Given the description of an element on the screen output the (x, y) to click on. 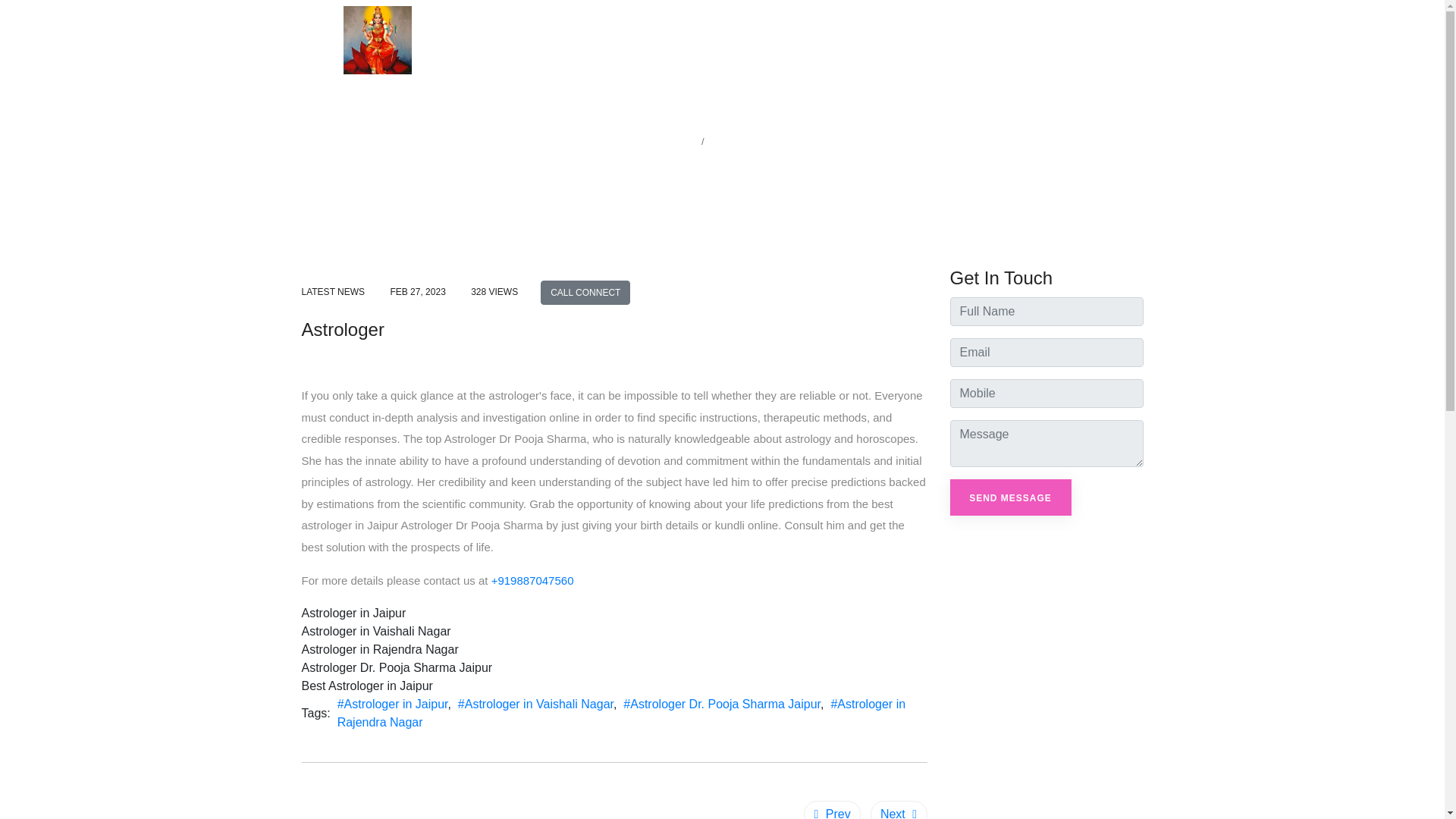
About Us (897, 39)
Blogs (1067, 39)
SEND MESSAGE (1009, 497)
HOME (680, 141)
328 VIEWS (494, 291)
LATEST NEWS (333, 291)
Prev (831, 809)
Home (844, 39)
CALL CONNECT (585, 292)
Gallery (1020, 39)
FEB 27, 2023 (417, 291)
Astrologer Dr Pooja Sharma (376, 39)
Contact (1115, 39)
Services (961, 39)
Next (898, 809)
